Given the description of an element on the screen output the (x, y) to click on. 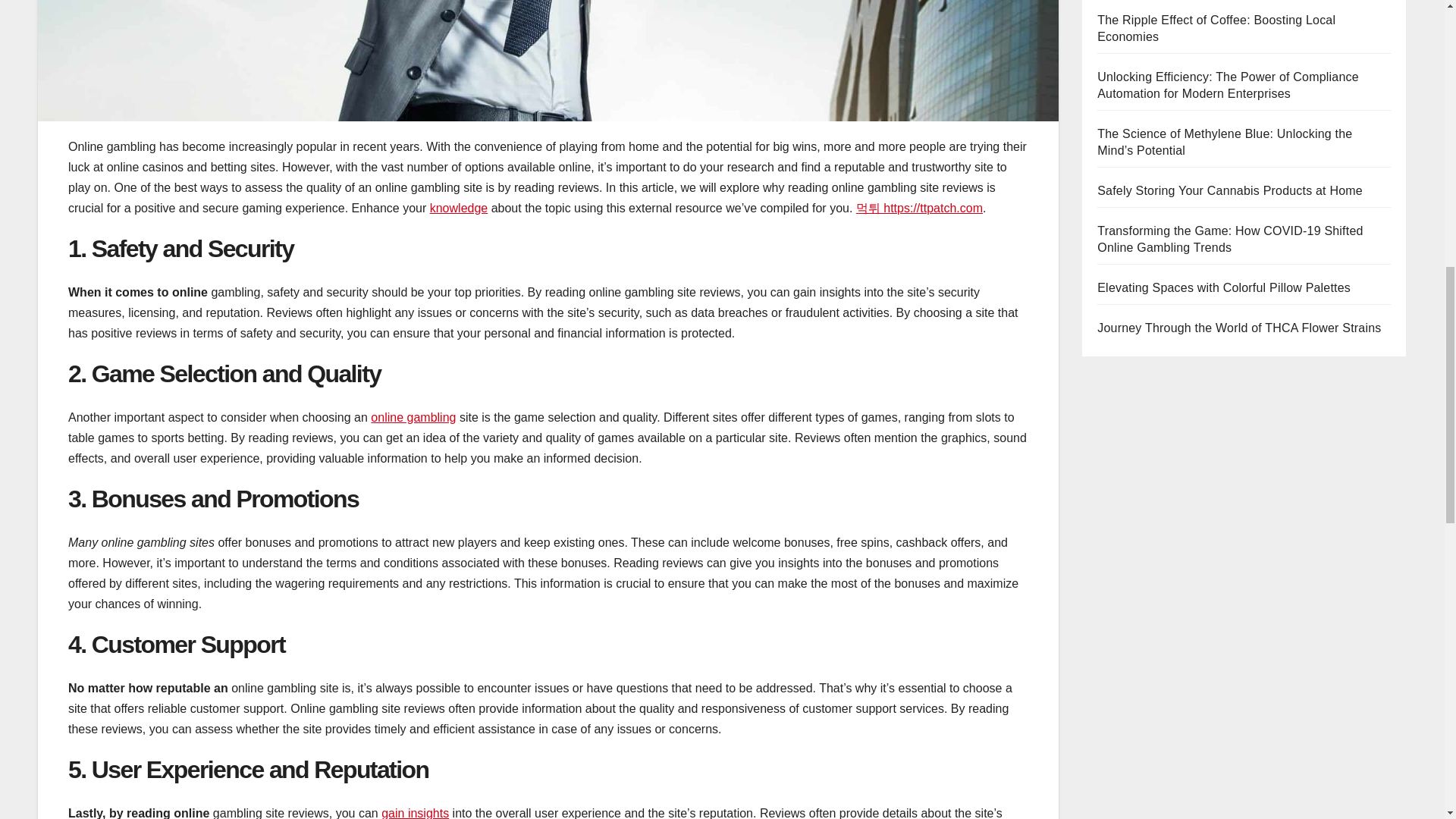
Safely Storing Your Cannabis Products at Home (1229, 190)
knowledge (458, 207)
The Ripple Effect of Coffee: Boosting Local Economies (1216, 28)
gain insights (414, 812)
online gambling (413, 417)
